Given the description of an element on the screen output the (x, y) to click on. 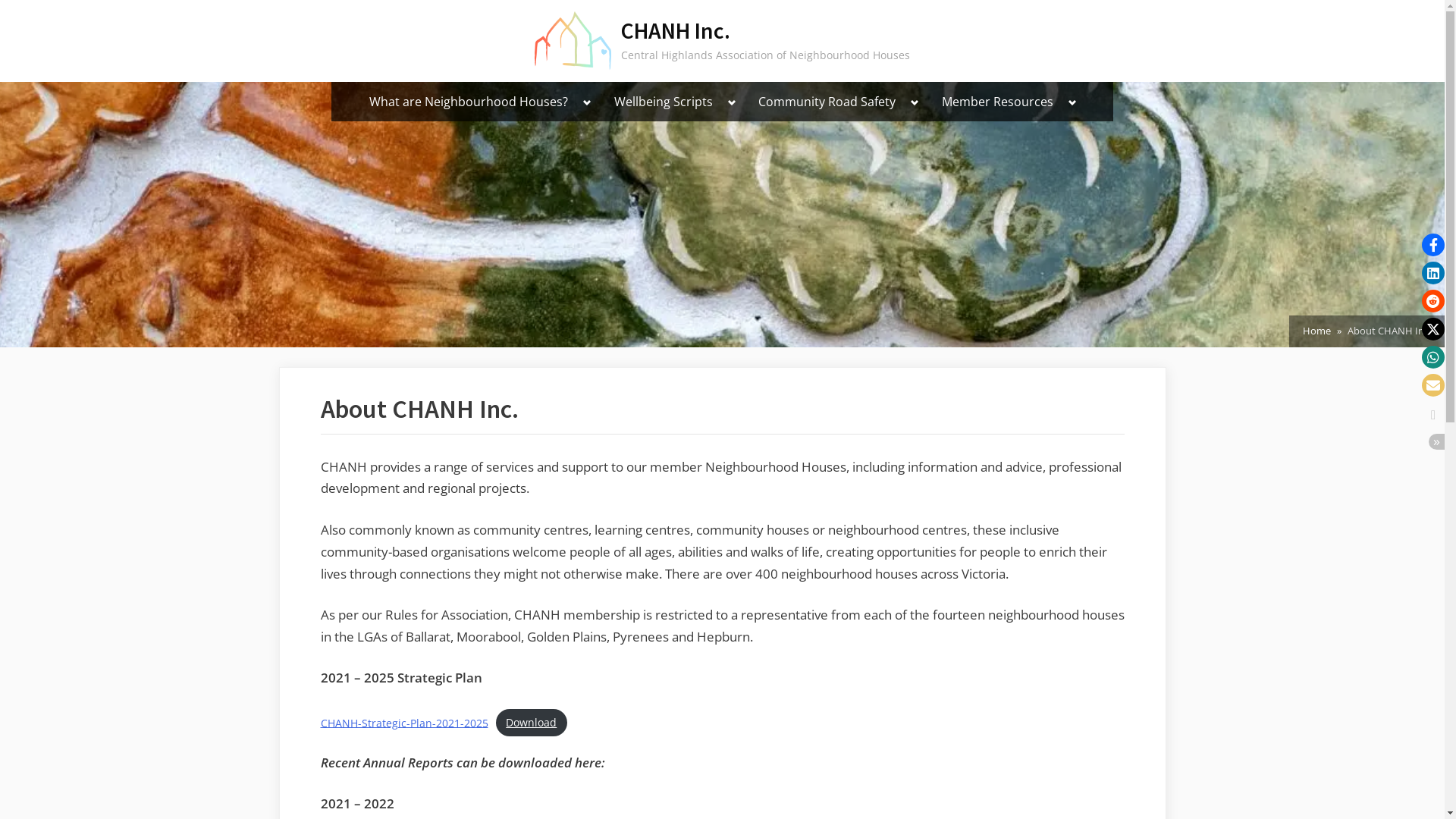
Toggle sub-menu Element type: text (732, 102)
Toggle sub-menu Element type: text (1072, 102)
Toggle sub-menu Element type: text (914, 102)
CHANH-Strategic-Plan-2021-2025 Element type: text (403, 722)
Wellbeing Scripts Element type: text (663, 101)
Home Element type: text (1316, 331)
Member Resources Element type: text (997, 101)
Community Road Safety Element type: text (826, 101)
CHANH Inc. Element type: text (675, 30)
Download Element type: text (531, 723)
What are Neighbourhood Houses? Element type: text (468, 101)
Toggle sub-menu Element type: text (587, 102)
